Given the description of an element on the screen output the (x, y) to click on. 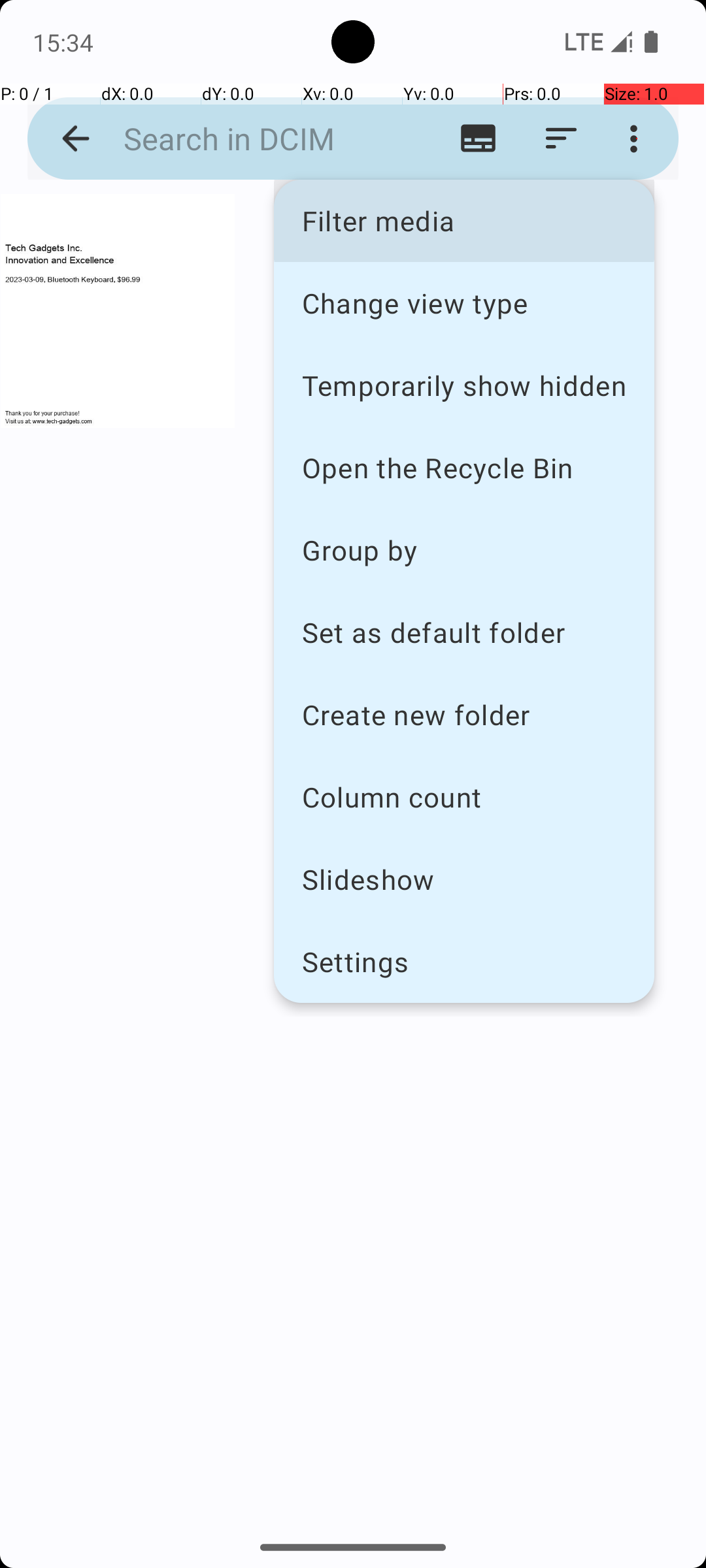
Filter media Element type: android.widget.TextView (463, 220)
Change view type Element type: android.widget.TextView (463, 302)
Temporarily show hidden Element type: android.widget.TextView (463, 384)
Open the Recycle Bin Element type: android.widget.TextView (463, 467)
Group by Element type: android.widget.TextView (463, 549)
Set as default folder Element type: android.widget.TextView (463, 631)
Create new folder Element type: android.widget.TextView (463, 714)
Column count Element type: android.widget.TextView (463, 796)
Slideshow Element type: android.widget.TextView (463, 878)
